Given the description of an element on the screen output the (x, y) to click on. 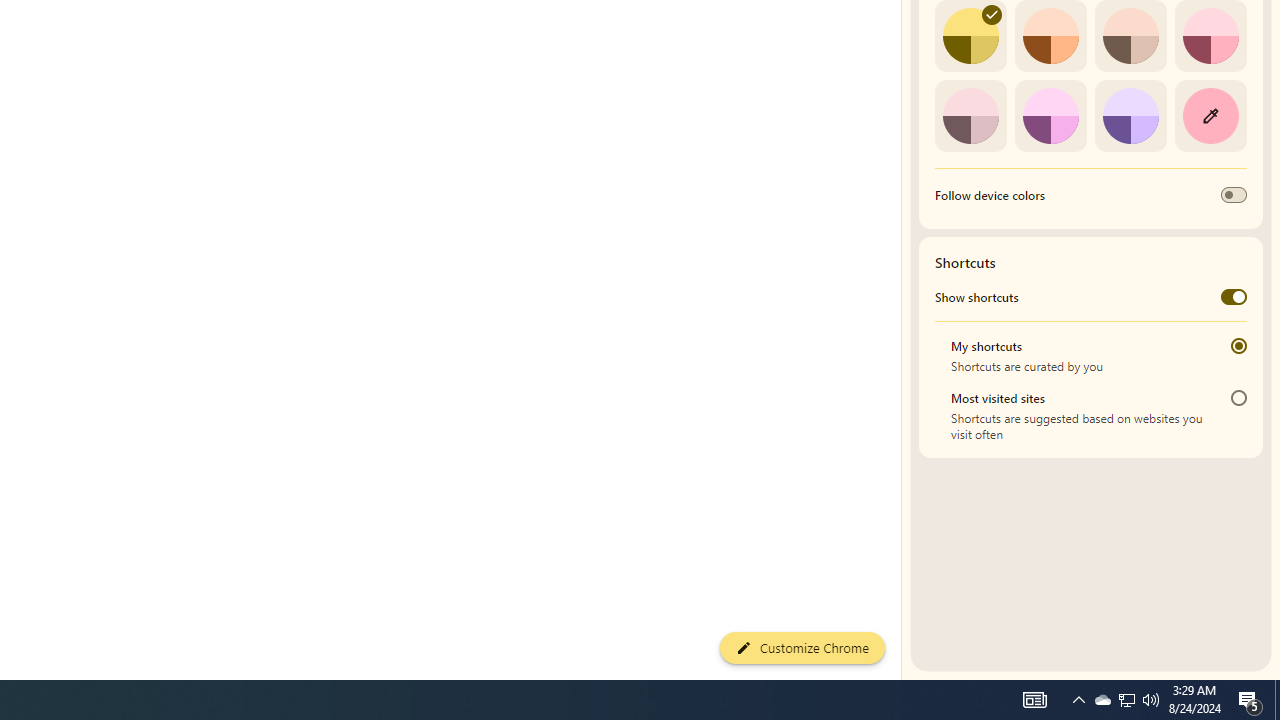
My shortcuts (1238, 345)
